Given the description of an element on the screen output the (x, y) to click on. 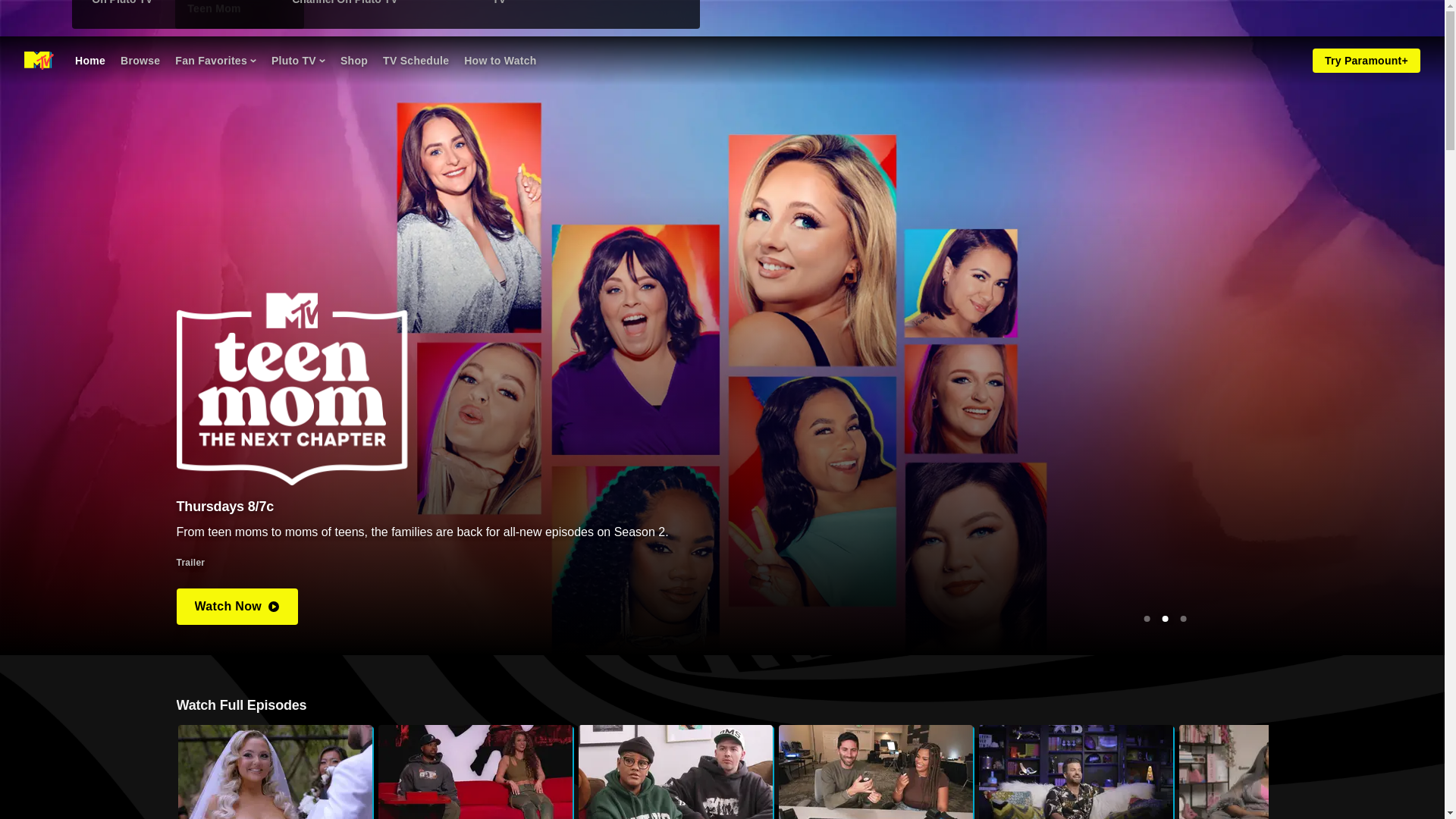
Watch MTV's Jersey Shore Channel On Pluto TV (182, 6)
Pluto TV (297, 60)
TV Schedule (415, 60)
Watch Now (237, 606)
Watch MTV's Teen Mom On Pluto TV (582, 6)
How to Watch (499, 60)
Chevron-icon (321, 60)
Watch-icon (273, 606)
Teen Mom (213, 7)
Chevron-icon (253, 60)
Watch MTV's The Challenge Channel On Pluto TV (382, 6)
Fan Favorites (215, 60)
